Given the description of an element on the screen output the (x, y) to click on. 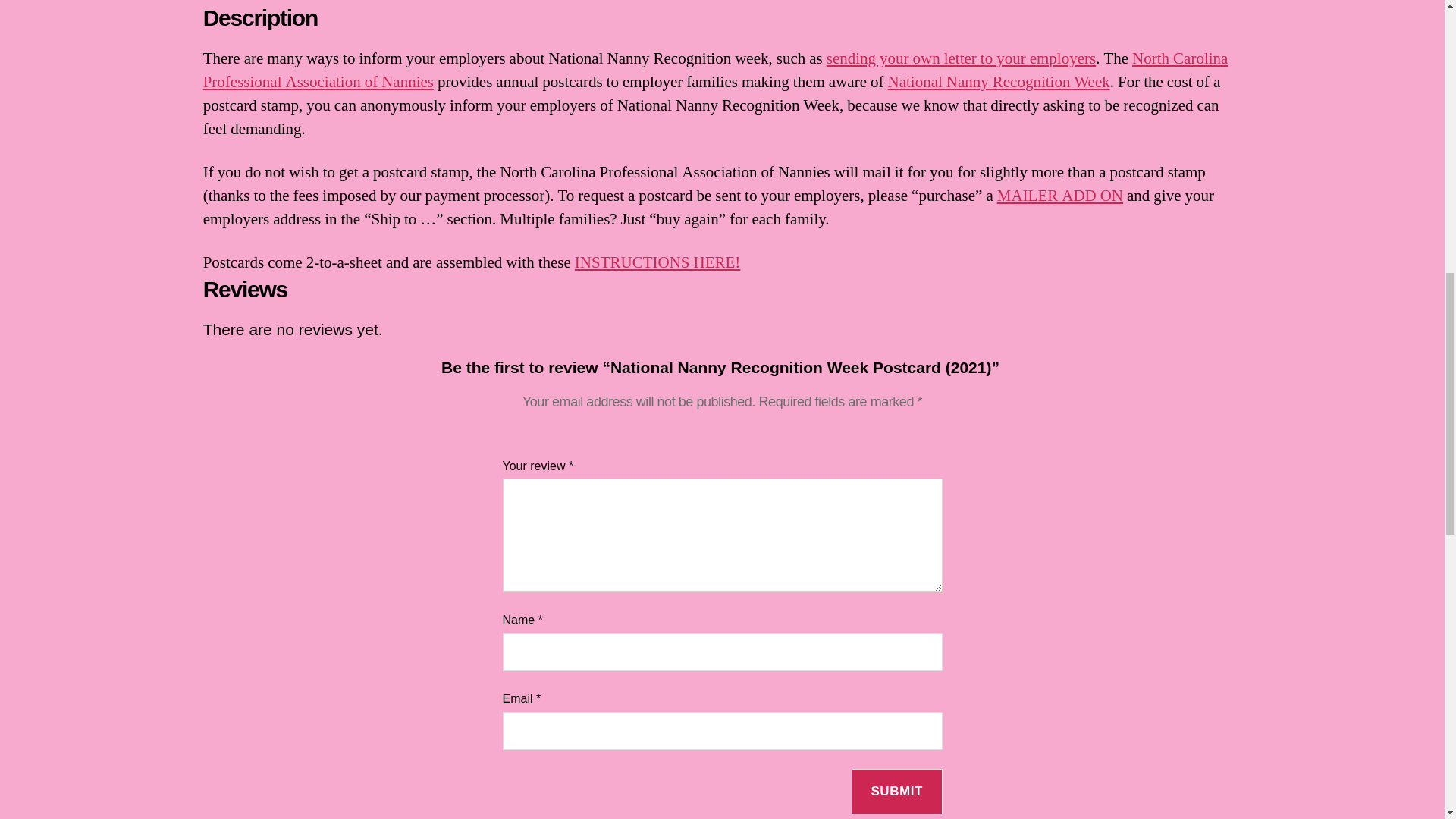
National Nanny Recognition Week (997, 82)
North Carolina Professional Association of Nannies (715, 70)
Submit (896, 791)
